Given the description of an element on the screen output the (x, y) to click on. 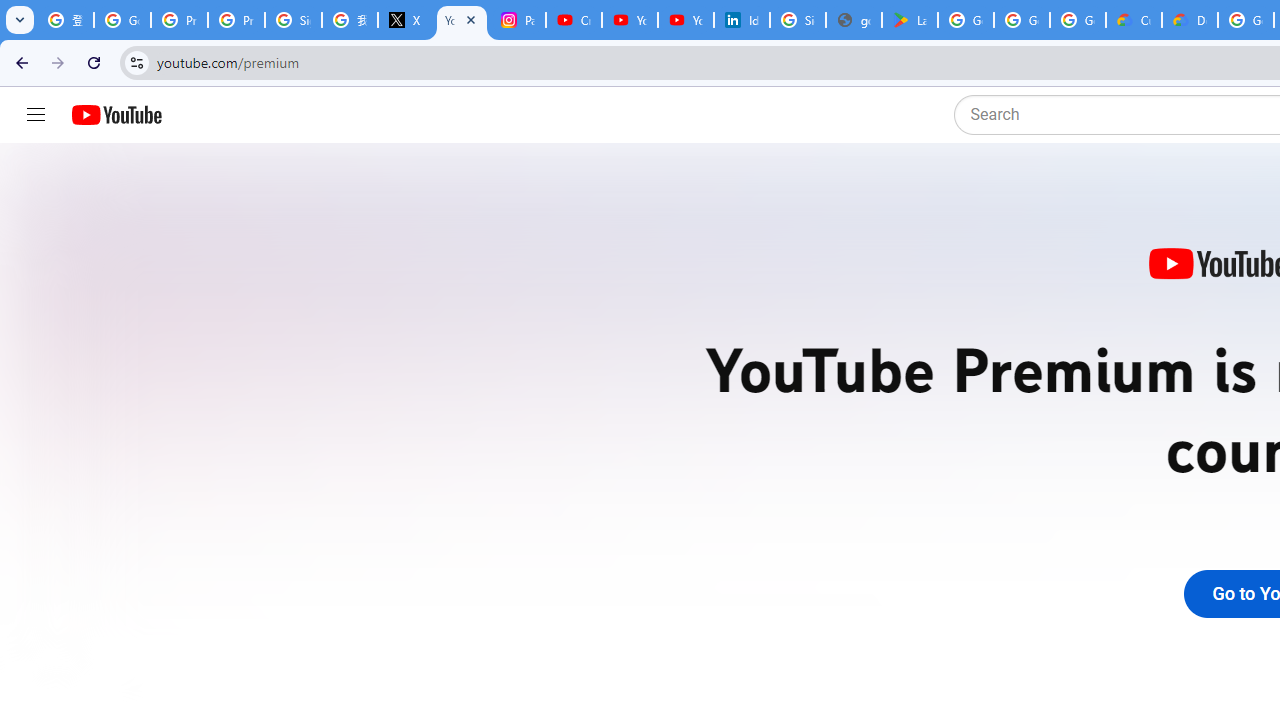
Google Workspace - Specific Terms (1021, 20)
YouTube Home (116, 115)
Last Shelter: Survival - Apps on Google Play (909, 20)
Privacy Help Center - Policies Help (179, 20)
Customer Care | Google Cloud (1133, 20)
Sign in - Google Accounts (293, 20)
